Given the description of an element on the screen output the (x, y) to click on. 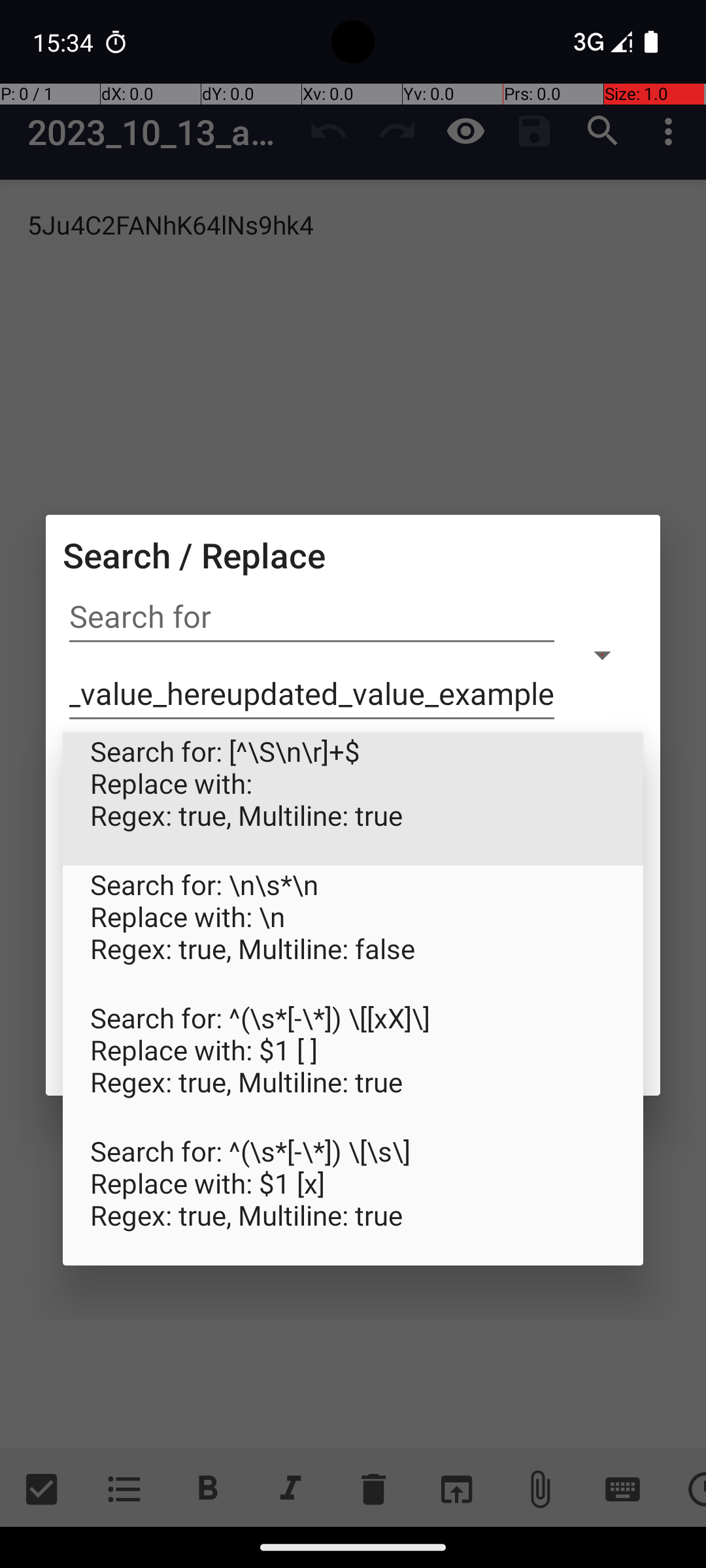
Search for: [^\S\n\r]+$
Replace with: 
Regex: true, Multiline: true
 Element type: android.widget.TextView (352, 798)
Search for: \n\s*\n
Replace with: \n
Regex: true, Multiline: false
 Element type: android.widget.TextView (352, 931)
Search for: ^(\s*[-\*]) \[[xX]\]
Replace with: $1 [ ]
Regex: true, Multiline: true
 Element type: android.widget.TextView (352, 1065)
Search for: ^(\s*[-\*]) \[\s\]
Replace with: $1 [x]
Regex: true, Multiline: true
 Element type: android.widget.TextView (352, 1198)
